Given the description of an element on the screen output the (x, y) to click on. 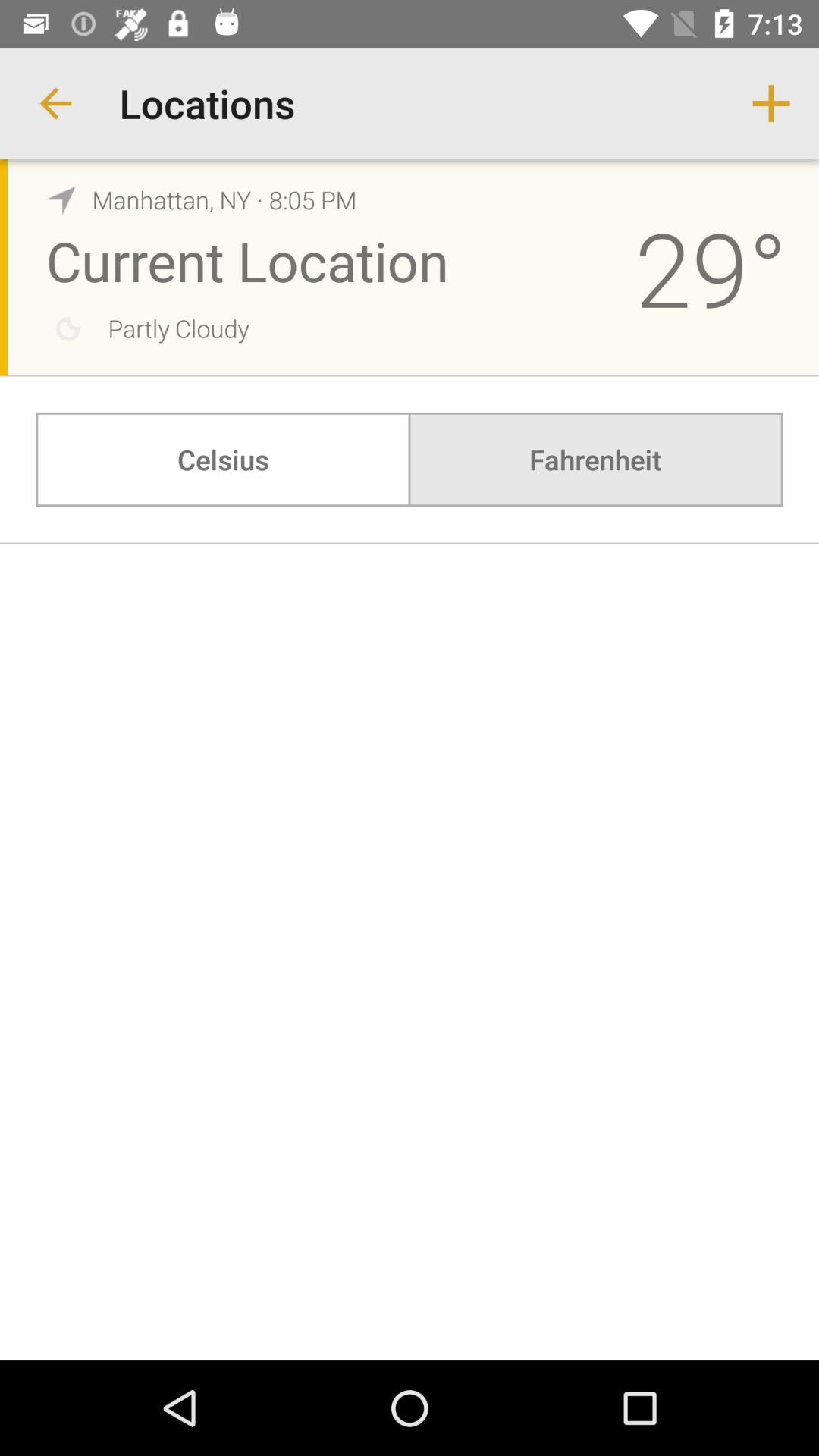
turn on celsius icon (223, 459)
